Given the description of an element on the screen output the (x, y) to click on. 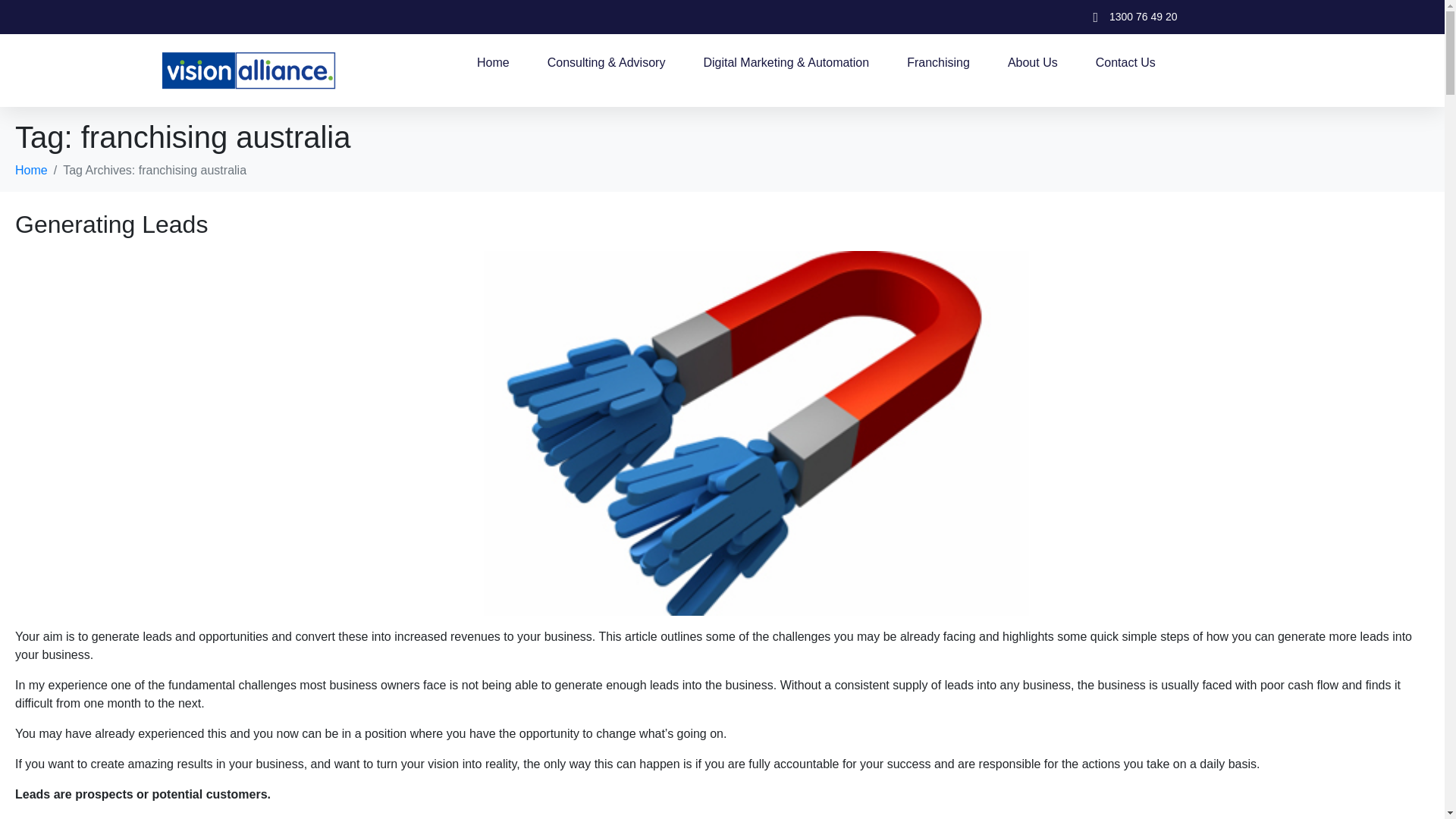
About Us (1032, 62)
1300 76 49 20 (1128, 17)
Generating Leads (111, 224)
Franchising (938, 62)
Contact Us (1126, 62)
Home (493, 62)
